Given the description of an element on the screen output the (x, y) to click on. 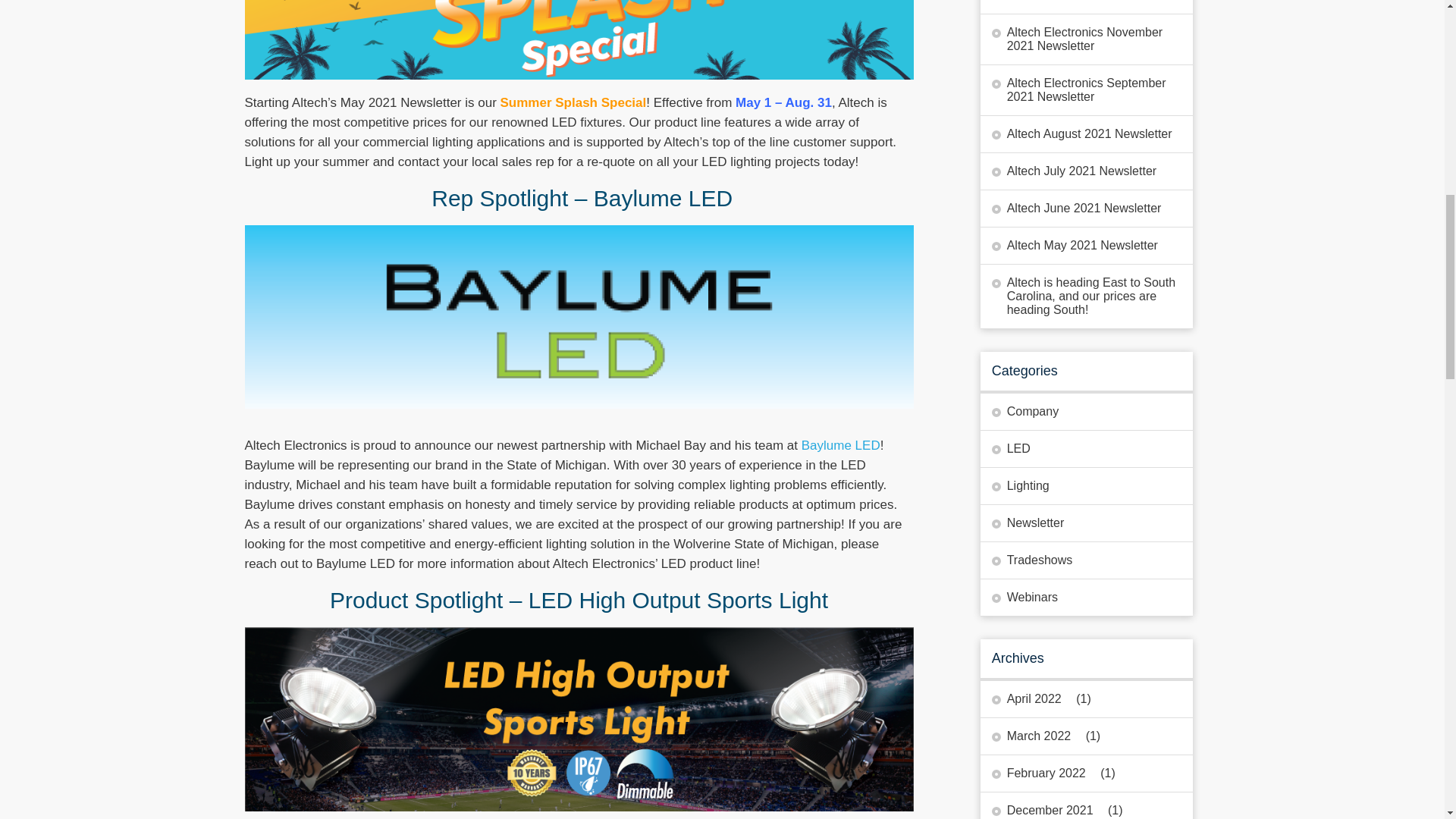
Altech June 2021 Newsletter (1076, 208)
Altech Electronics January 2022 Newsletter (1085, 6)
Altech Electronics September 2021 Newsletter (1085, 90)
Altech Electronics November 2021 Newsletter (1085, 39)
Altech August 2021 Newsletter (1081, 134)
Altech July 2021 Newsletter (1073, 171)
Altech May 2021 Newsletter (1074, 245)
